Given the description of an element on the screen output the (x, y) to click on. 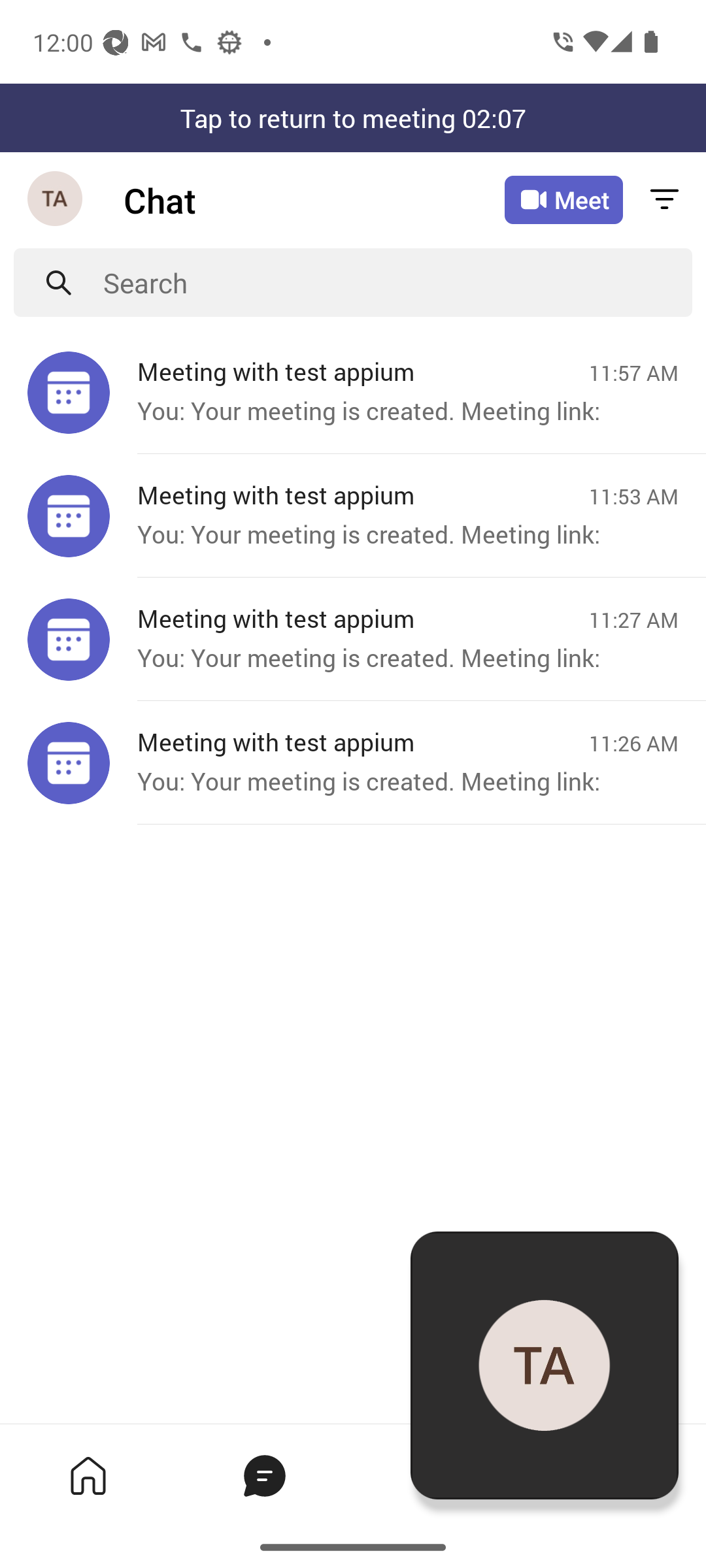
Tap to return to meeting 02:07 (353, 117)
Filter chat messages (664, 199)
Navigation (56, 199)
Meet Meet now or join with an ID (563, 199)
Search (397, 281)
Home tab,1 of 4, not selected (88, 1475)
Chat tab, 2 of 4 (264, 1475)
